Given the description of an element on the screen output the (x, y) to click on. 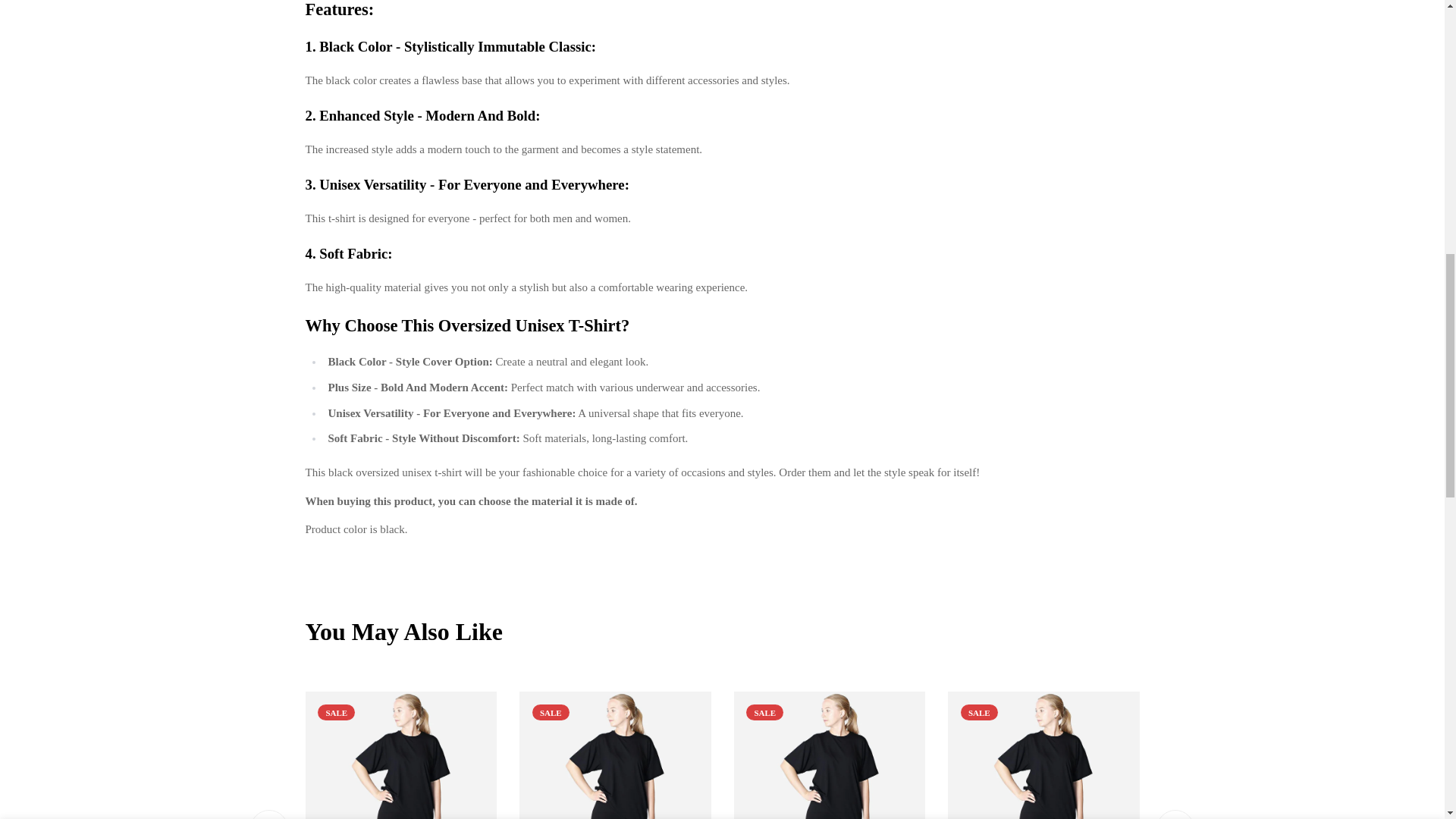
You May Also Like (721, 632)
